Given the description of an element on the screen output the (x, y) to click on. 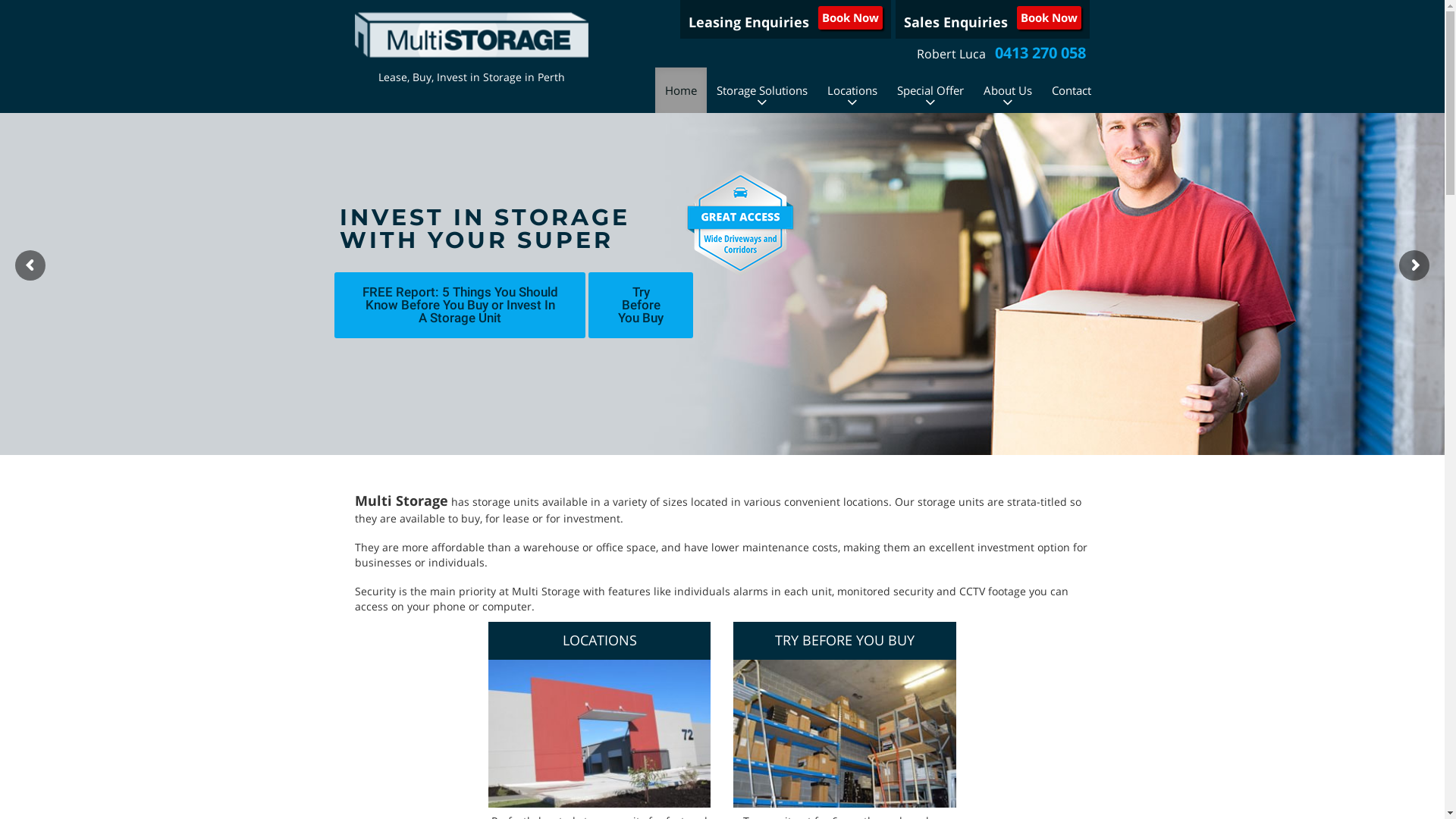
Home Element type: text (680, 89)
About Us Element type: text (1007, 89)
Contact Element type: text (1071, 89)
Locations Element type: text (852, 89)
Sales Enquiries Element type: text (955, 19)
Leasing Enquiries Element type: text (748, 19)
Try Before You Buy Element type: text (640, 304)
TRY BEFORE YOU BUY Element type: text (844, 640)
Book Now Element type: text (1048, 17)
Storage Solutions Element type: text (761, 89)
0413 270 058 Element type: text (1039, 53)
Book Now Element type: text (850, 17)
LOCATIONS Element type: text (599, 640)
Special Offer Element type: text (930, 89)
